Given the description of an element on the screen output the (x, y) to click on. 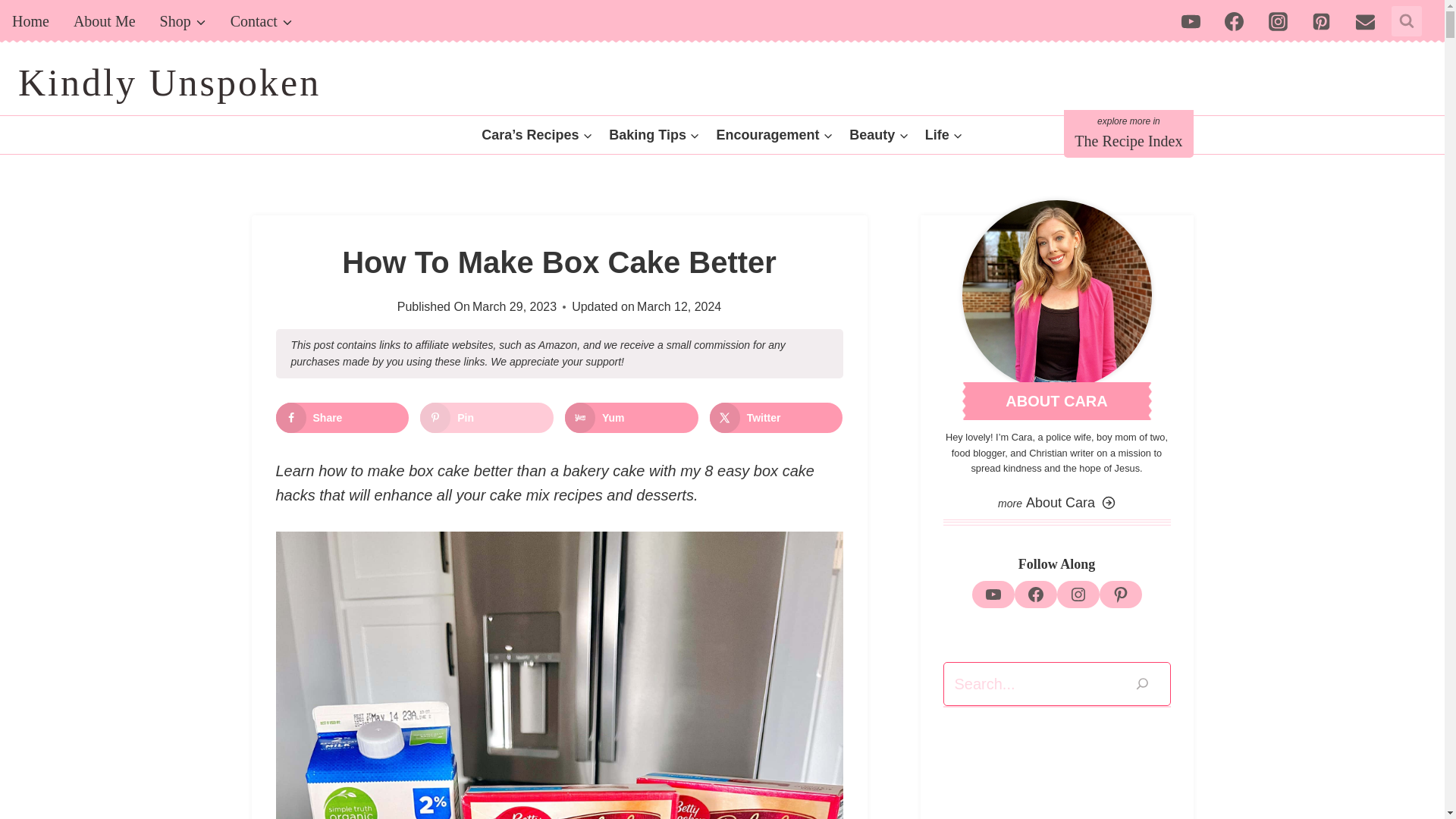
Save to Pinterest (486, 417)
Shop (183, 21)
Baking Tips (653, 134)
Share on X (776, 417)
Contact (261, 21)
Share on Yummly (631, 417)
Home (30, 21)
The Recipe Index (1128, 133)
Share on Facebook (342, 417)
Kindly Unspoken (168, 82)
Encouragement (774, 134)
Beauty (879, 134)
About Me (104, 21)
Life (944, 134)
